Given the description of an element on the screen output the (x, y) to click on. 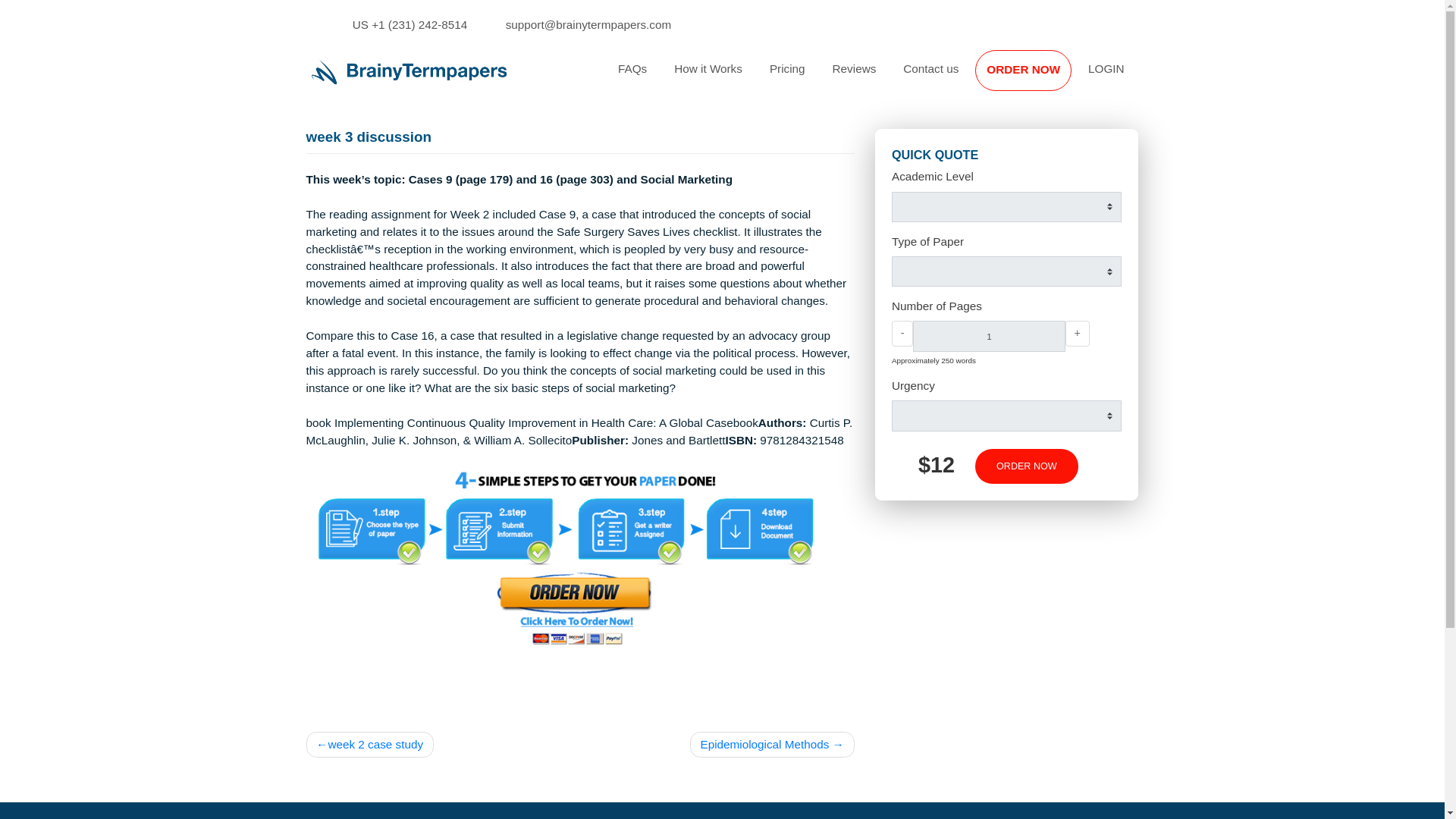
week 2 case study (410, 816)
Pricing (875, 76)
Epidemiological Methods (858, 816)
LOGIN (1229, 76)
ORDER NOW (1137, 77)
How it Works (786, 76)
FAQs (702, 76)
How it Works (786, 76)
Contact us (1034, 76)
FAQs (702, 76)
1 (1098, 373)
Pricing (875, 76)
Reviews (948, 76)
ORDER NOW (1137, 77)
Contact us (1034, 76)
